Given the description of an element on the screen output the (x, y) to click on. 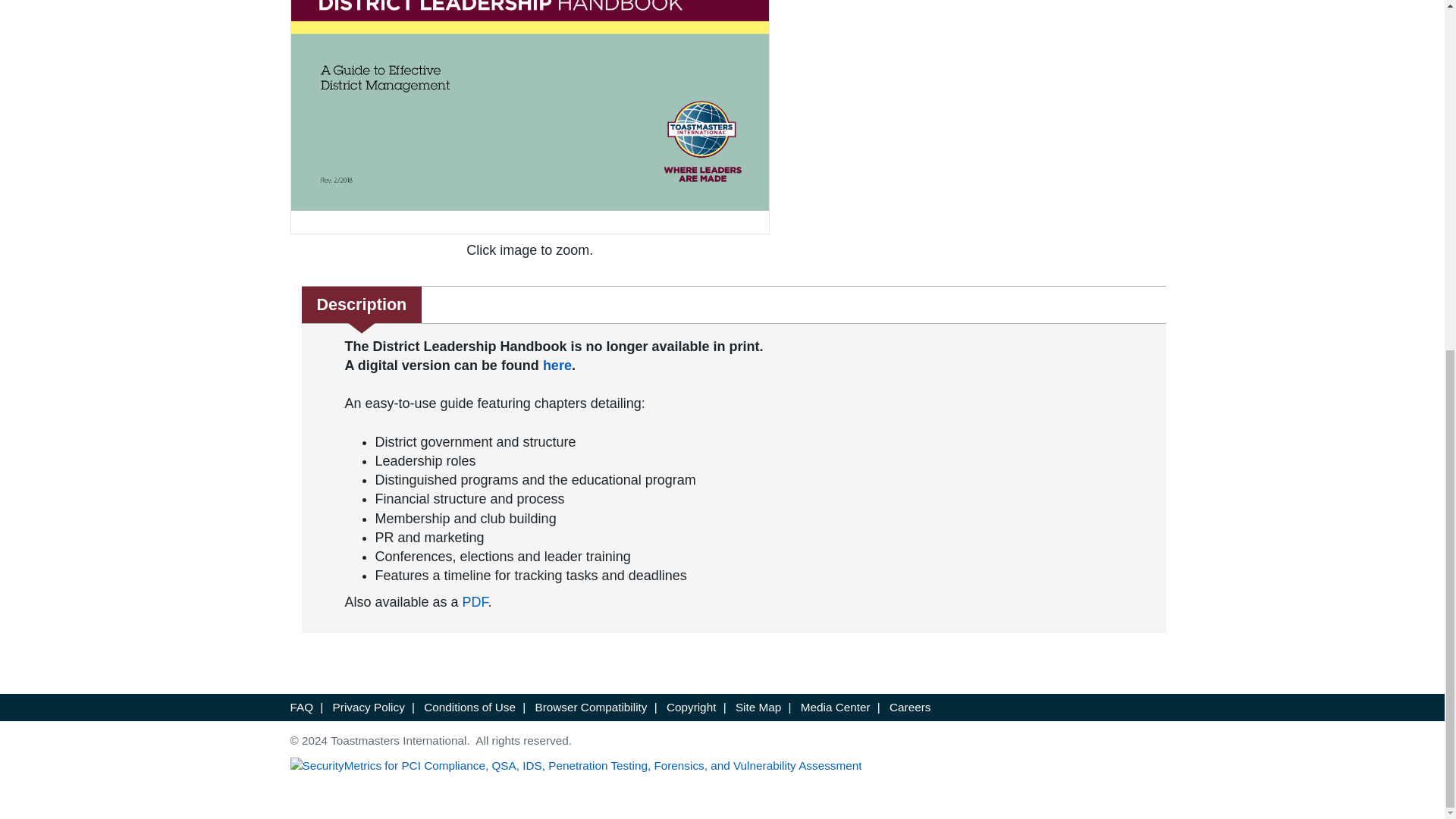
PDF (475, 601)
Browser Compatibility (592, 707)
Conditions of Use (470, 707)
Description (361, 304)
Copyright (692, 707)
Careers (909, 707)
here (557, 365)
Site Map (759, 707)
FAQ (302, 707)
Privacy Policy (370, 707)
